Given the description of an element on the screen output the (x, y) to click on. 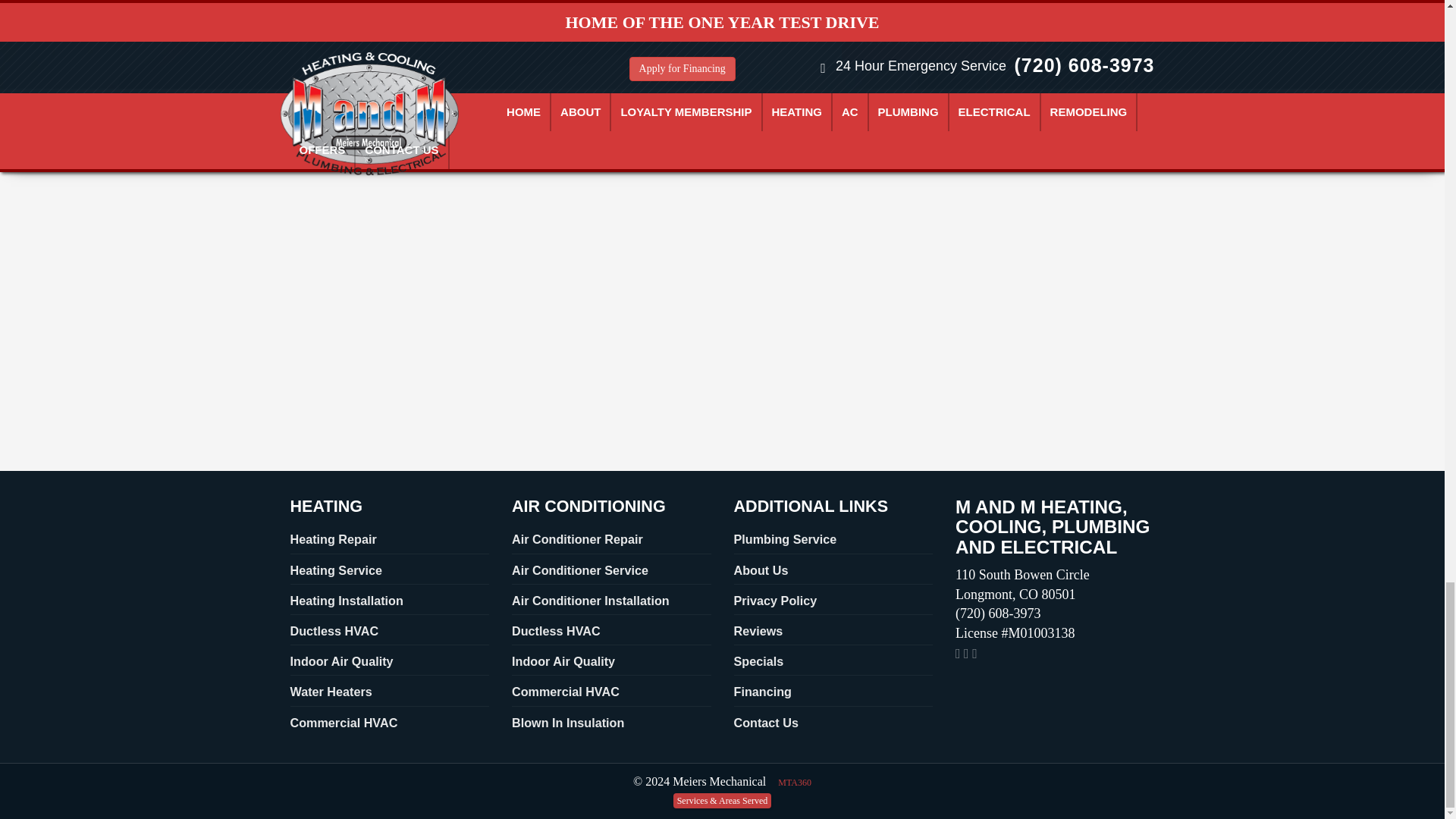
mta360 (793, 782)
